Given the description of an element on the screen output the (x, y) to click on. 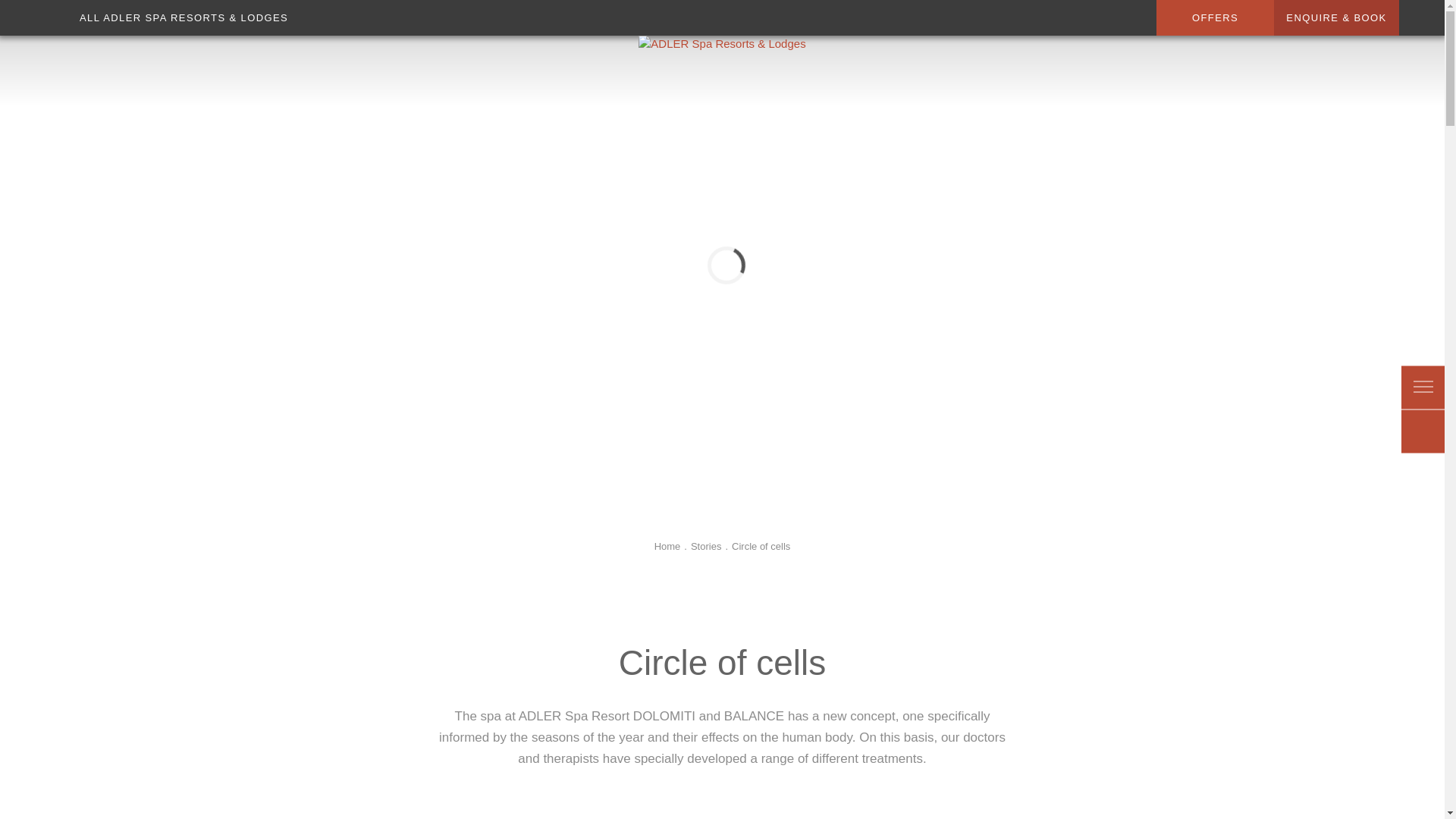
OFFERS (1215, 18)
Stories (705, 546)
Home (667, 546)
